Given the description of an element on the screen output the (x, y) to click on. 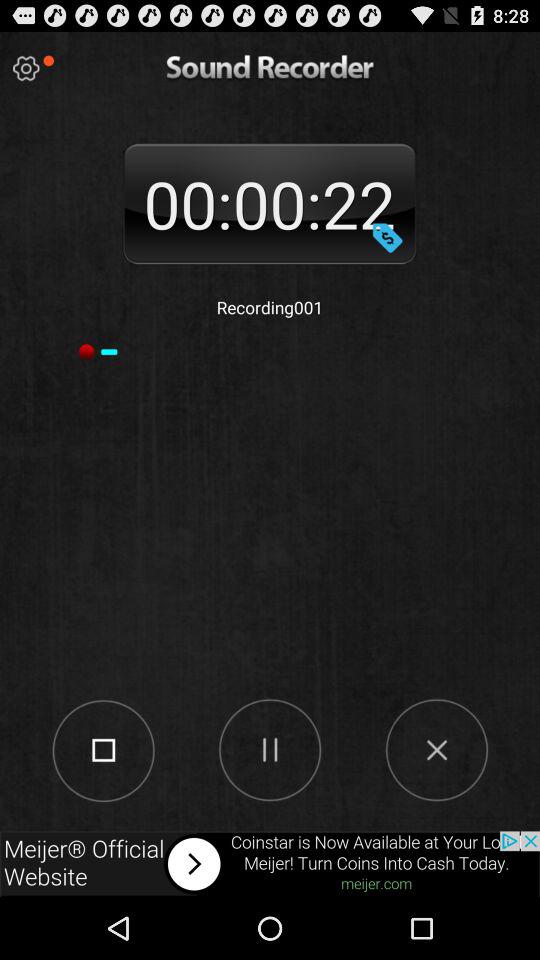
pause (269, 749)
